Given the description of an element on the screen output the (x, y) to click on. 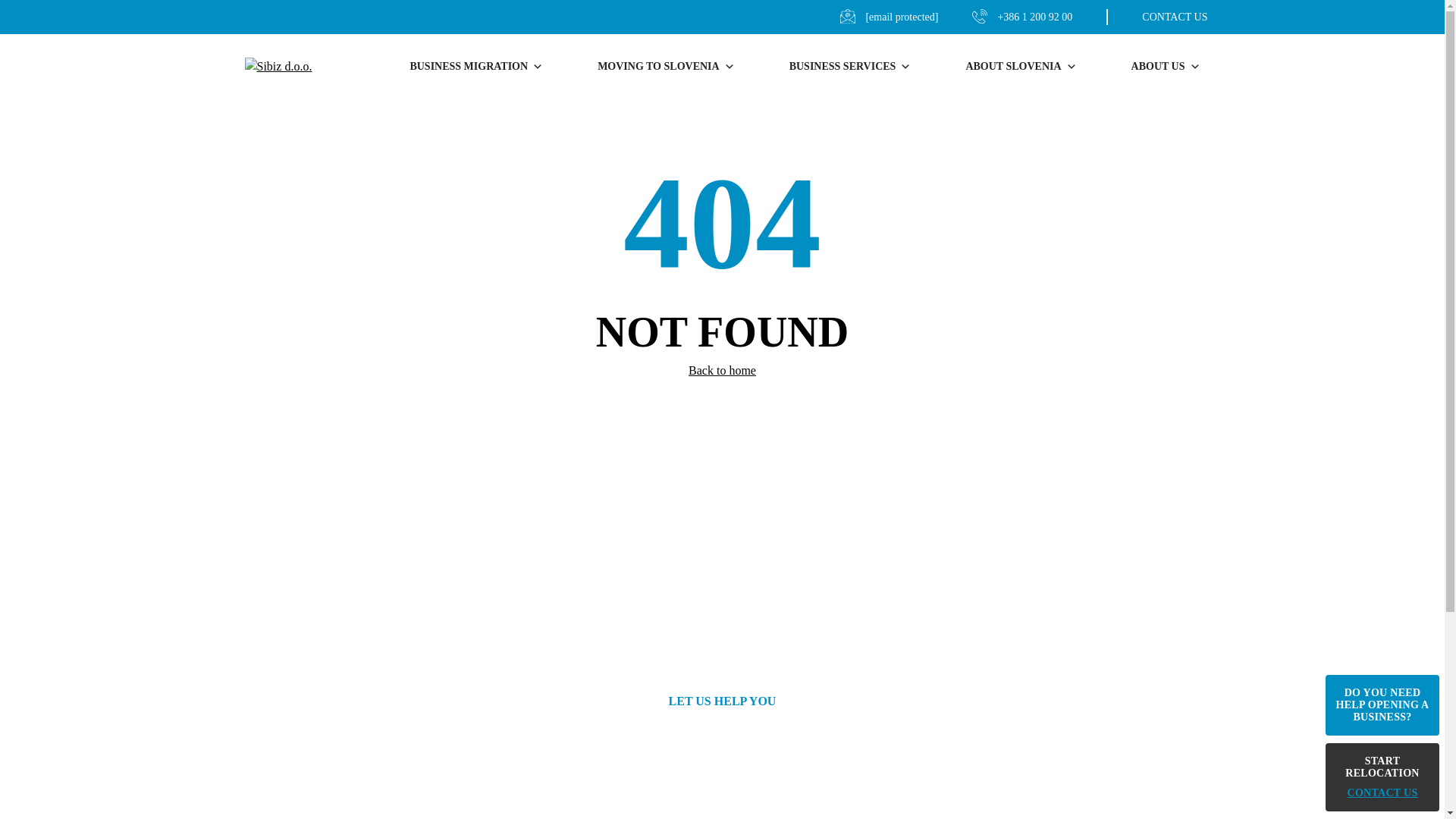
Sibiz d.o.o. (285, 66)
BUSINESS SERVICES (850, 66)
Back to home (721, 369)
ABOUT US (1157, 66)
MOVING TO SLOVENIA (665, 66)
BUSINESS MIGRATION (475, 66)
ABOUT SLOVENIA (1020, 66)
CONTACT US (1156, 17)
LET US HELP YOU (721, 700)
